Given the description of an element on the screen output the (x, y) to click on. 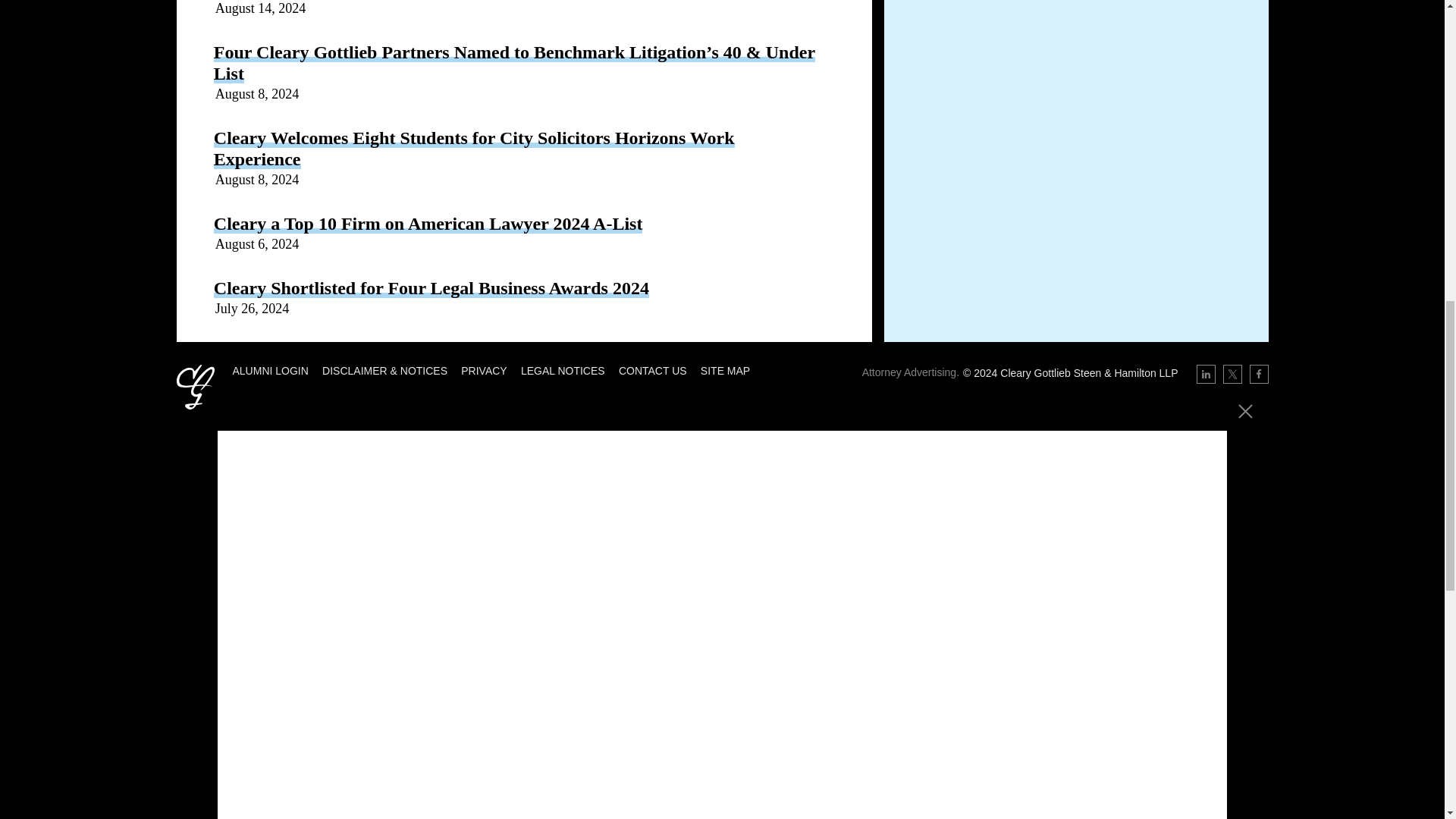
Site Map (724, 370)
Legal Notices (563, 370)
Alumni Login (269, 370)
Contact Us (652, 370)
Privacy (483, 370)
